Given the description of an element on the screen output the (x, y) to click on. 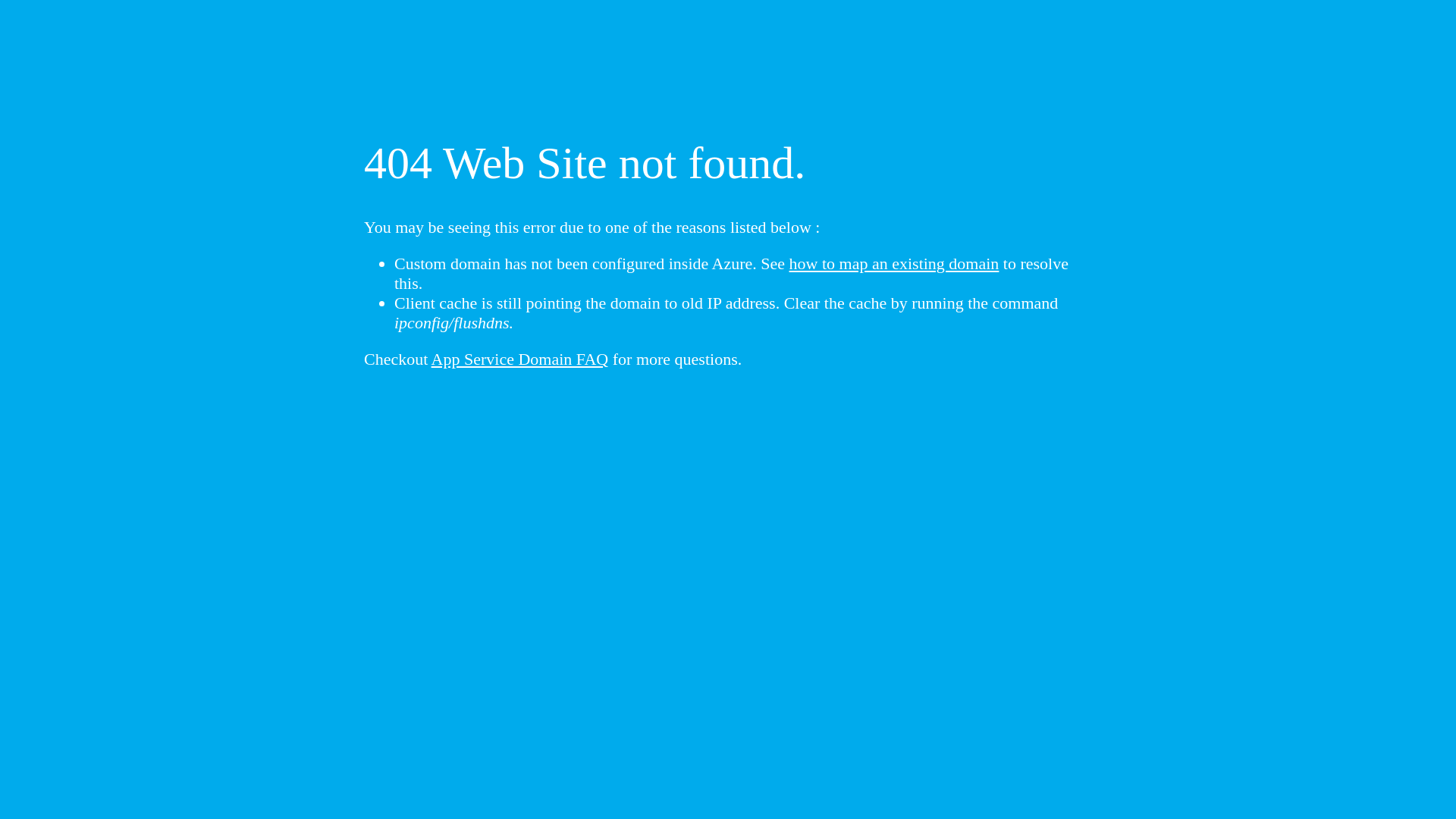
how to map an existing domain Element type: text (894, 263)
App Service Domain FAQ Element type: text (519, 358)
